Given the description of an element on the screen output the (x, y) to click on. 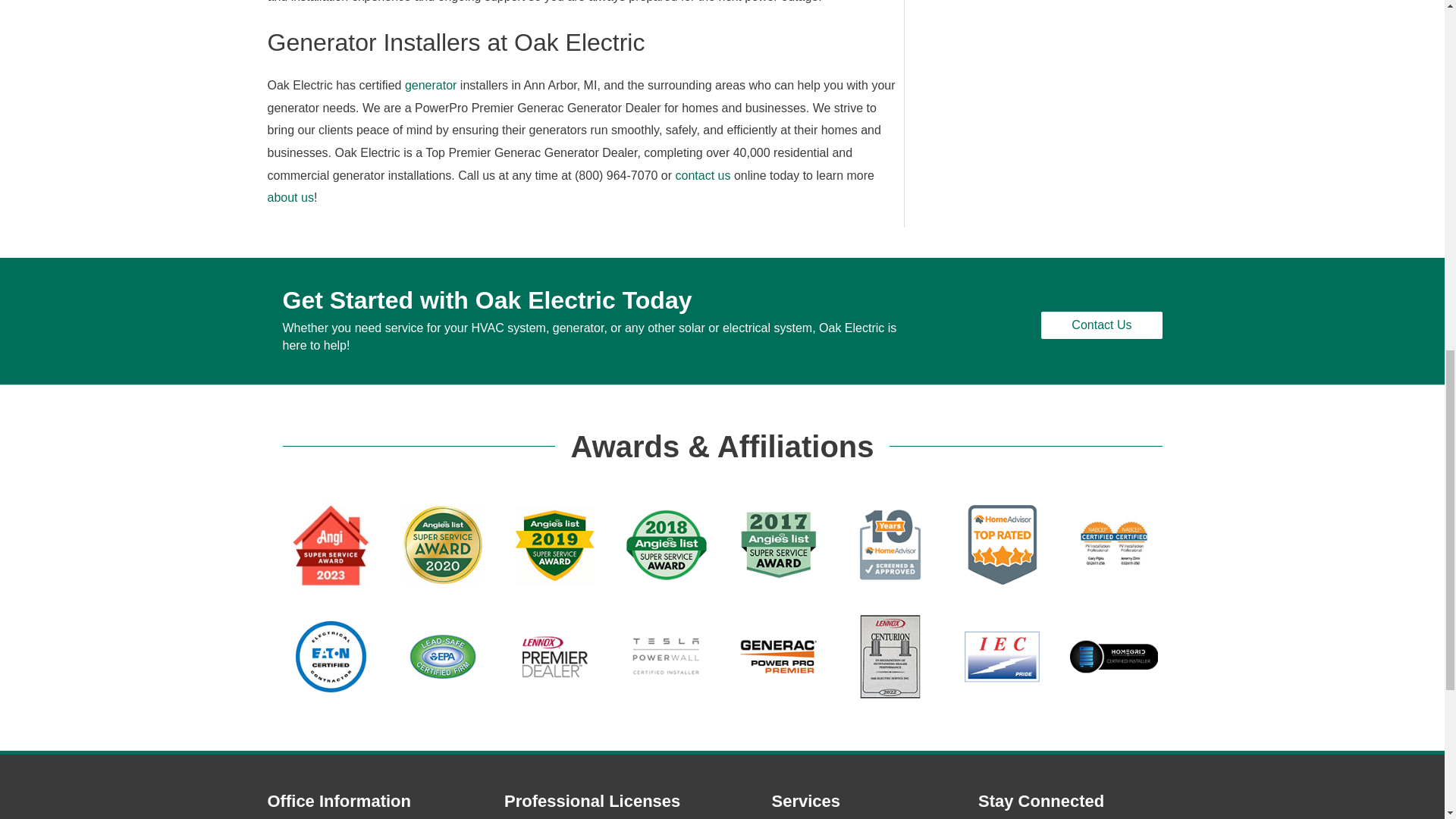
Angies-List-2018 (665, 544)
NABCEP (1113, 544)
New-lennox-logo (555, 656)
lead-safe-certified-firm (443, 656)
iec-pride (1002, 656)
Angies-List-2020 (443, 544)
angi-2023 (330, 544)
Angies-List-2019 (555, 544)
homegrid-certified (1113, 656)
10year-solid-border (890, 544)
Oak Electric Centurion Award (890, 656)
Angies-List-2017 (778, 544)
eaton-certified (330, 656)
